Given the description of an element on the screen output the (x, y) to click on. 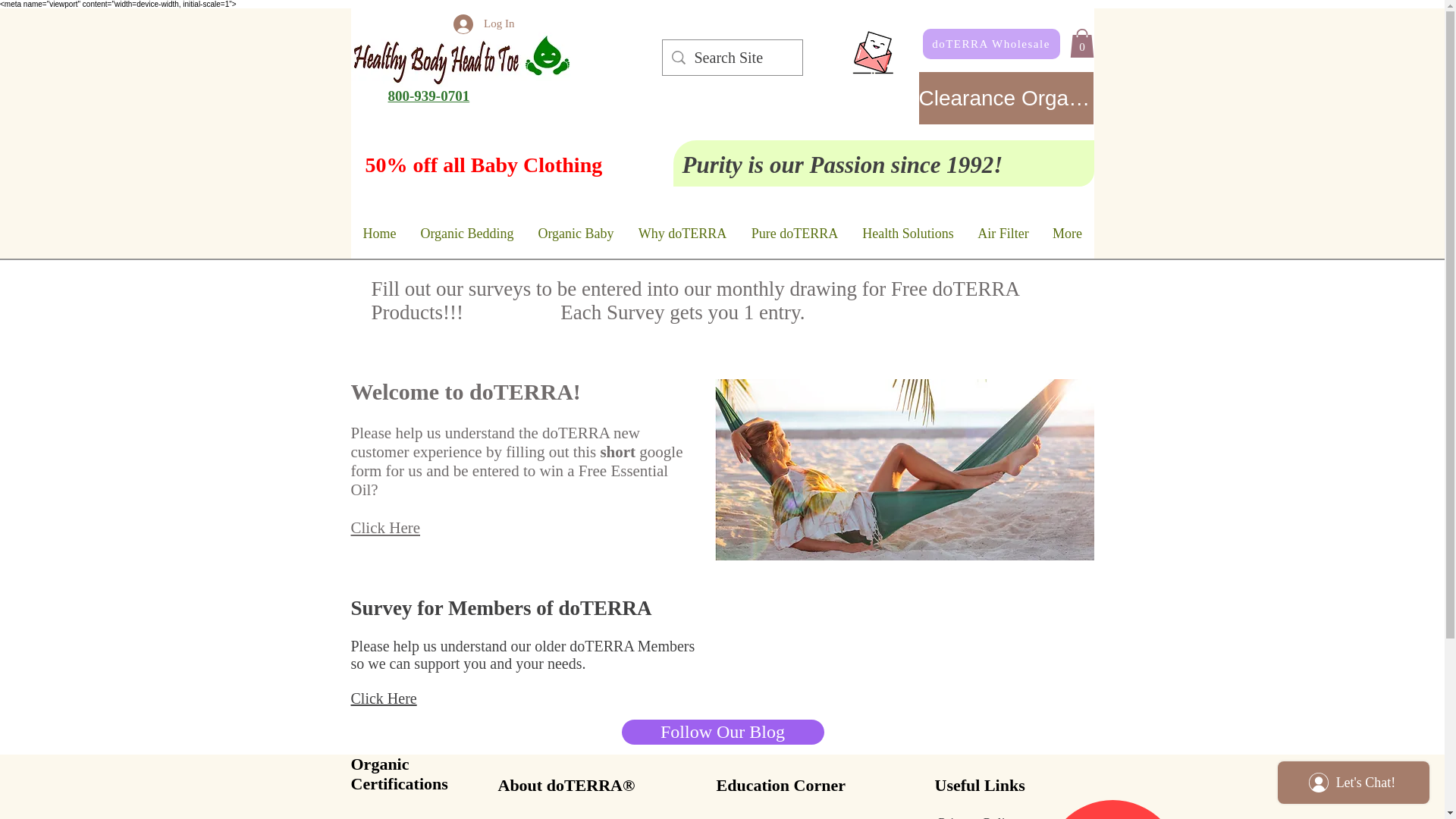
0 (1080, 42)
doTERRA Wholesale (990, 43)
Organic Baby (575, 233)
800-939-0701 (429, 95)
Clearance Organics (1005, 98)
0 (1080, 43)
Organic Bedding (466, 233)
Home (378, 233)
Log In (483, 23)
